Given the description of an element on the screen output the (x, y) to click on. 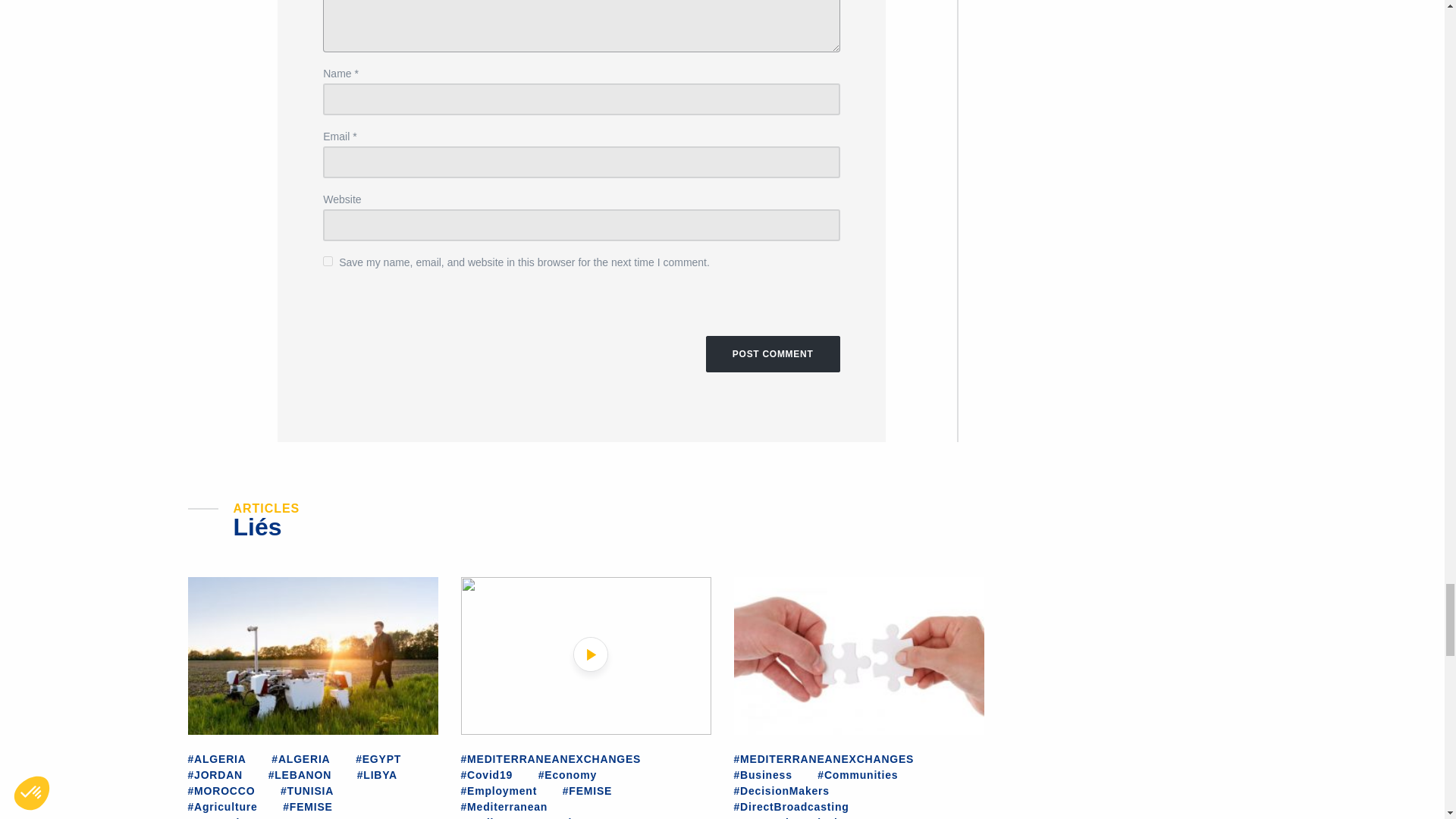
yes (328, 261)
Post Comment (773, 353)
